Given the description of an element on the screen output the (x, y) to click on. 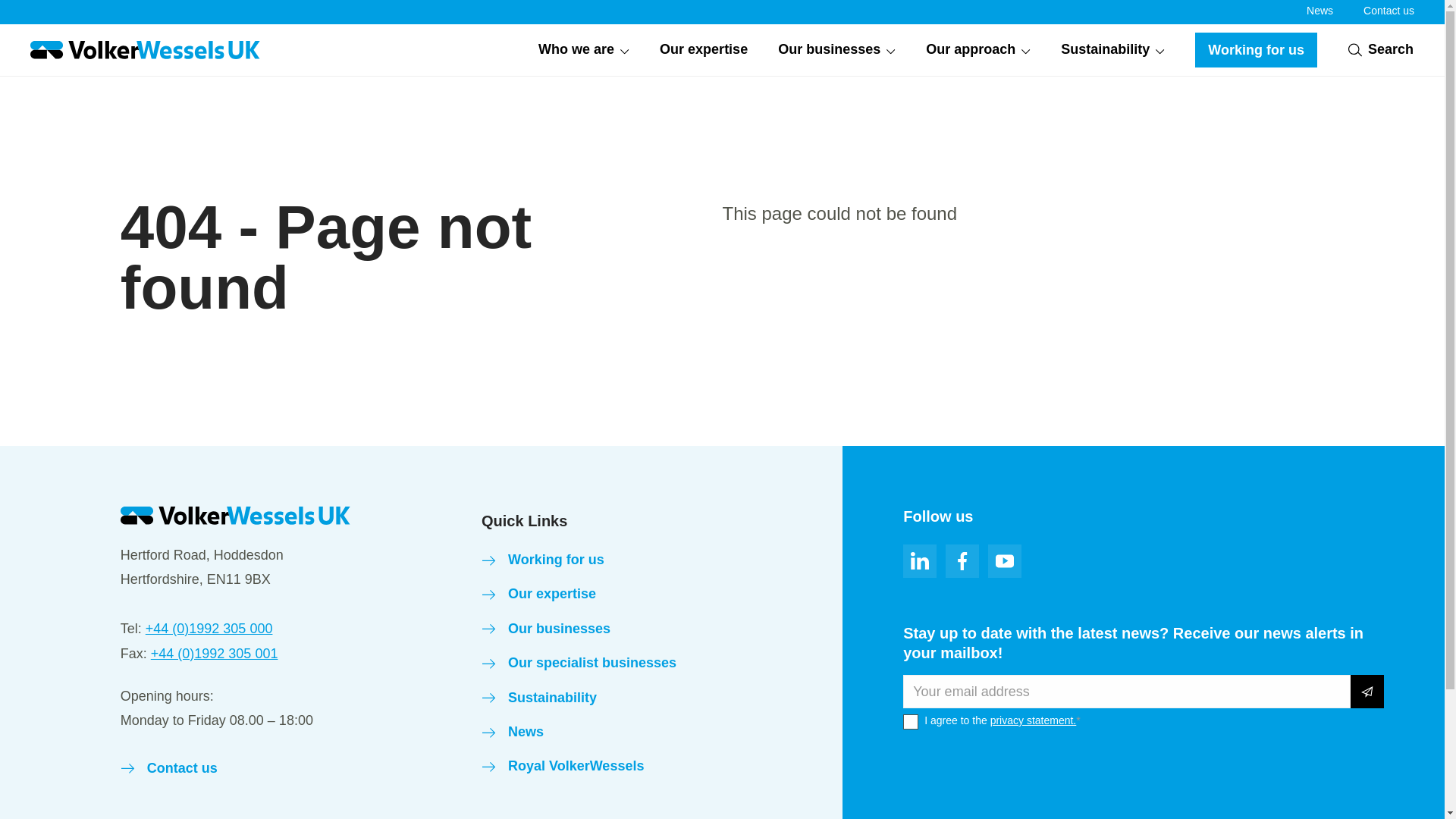
Contact us (1387, 10)
Our businesses (836, 50)
News (1319, 10)
Our expertise (703, 50)
Working for us (1256, 49)
Our approach (978, 50)
Who we are (583, 50)
Submit (1367, 691)
Search (1380, 49)
